Given the description of an element on the screen output the (x, y) to click on. 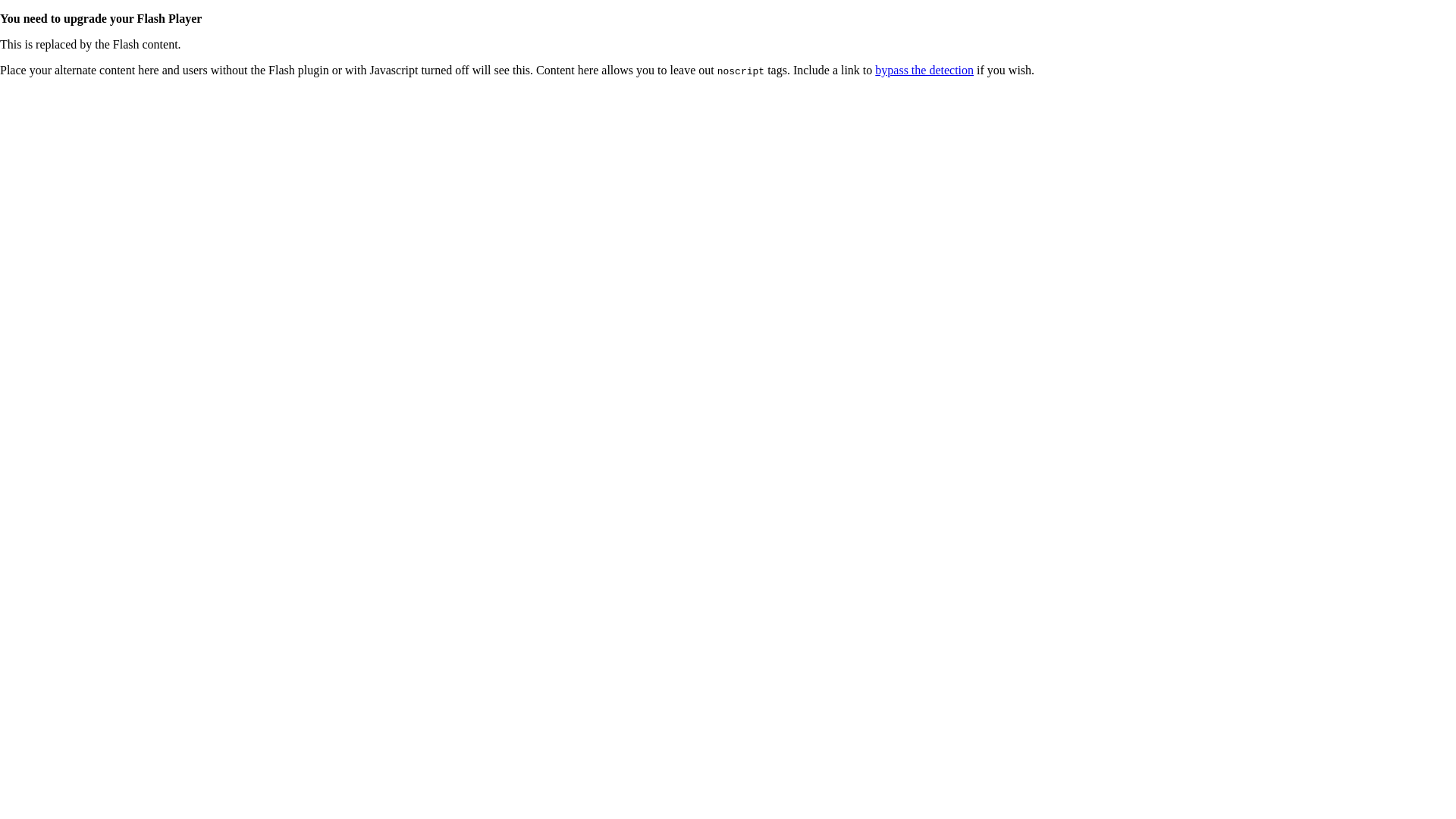
bypass the detection Element type: text (924, 69)
